Given the description of an element on the screen output the (x, y) to click on. 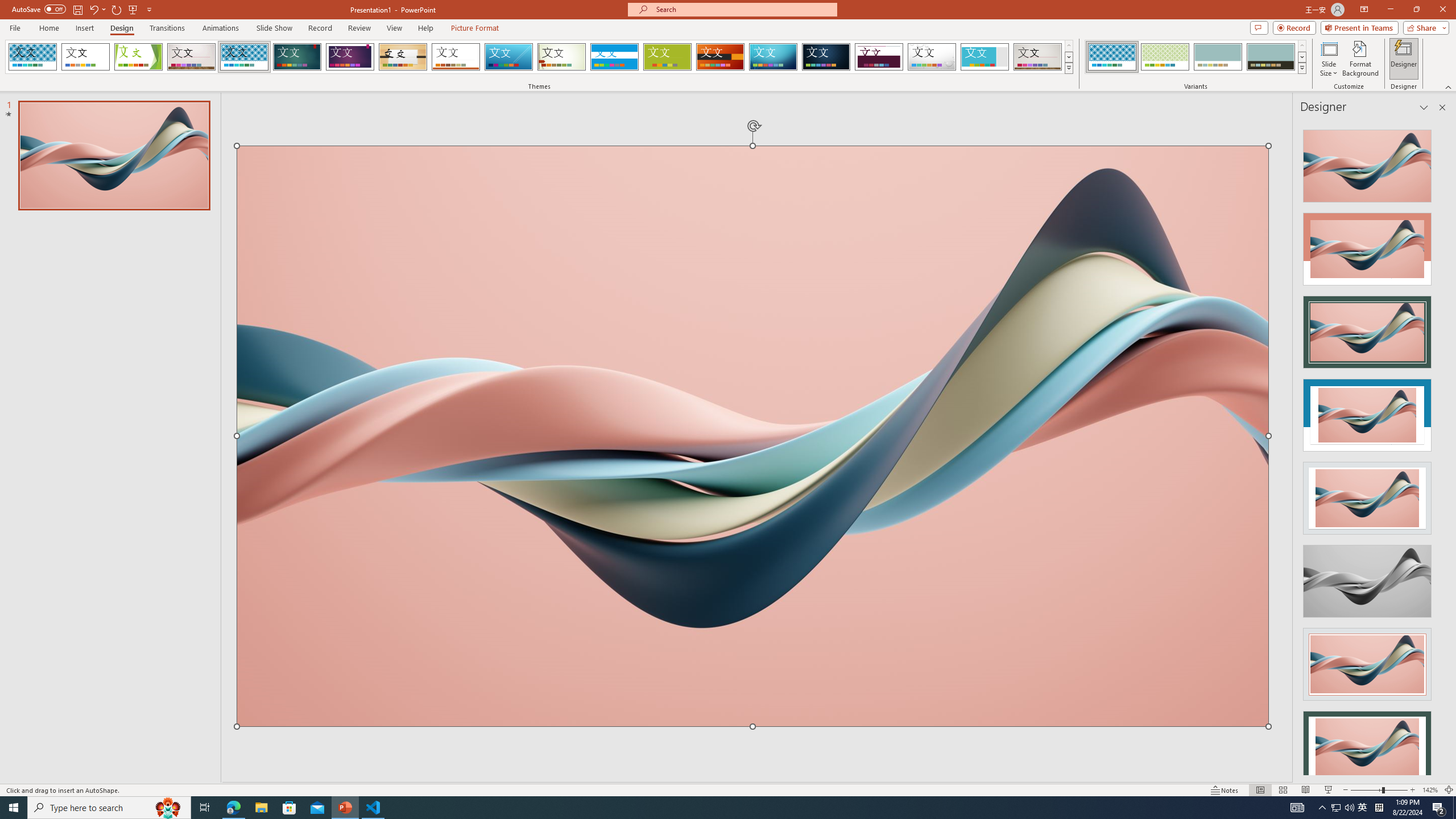
Damask (826, 56)
Ion Boardroom (350, 56)
Variants (1301, 67)
AutomationID: ThemeVariantsGallery (1195, 56)
Integral (244, 56)
Design Idea (1366, 743)
AfterglowVTI (32, 56)
